Given the description of an element on the screen output the (x, y) to click on. 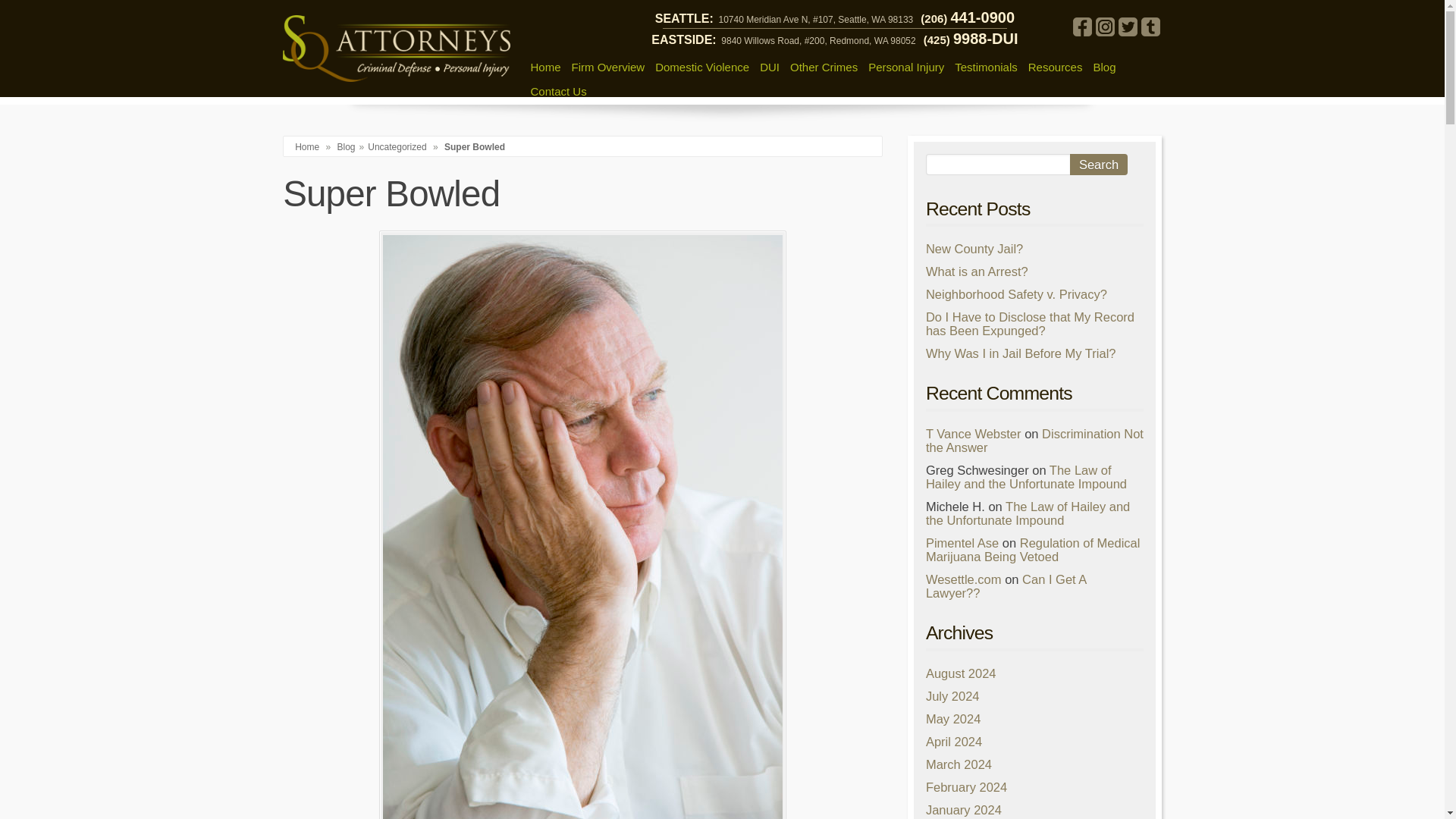
Blog (346, 146)
Instagram (1103, 26)
SQ Attorneys (396, 48)
Domestic Violence (701, 67)
Search (1098, 164)
Twitter (1127, 26)
Firm Overview (608, 67)
Home (545, 67)
Tumblr (1149, 26)
DUI (769, 67)
